Given the description of an element on the screen output the (x, y) to click on. 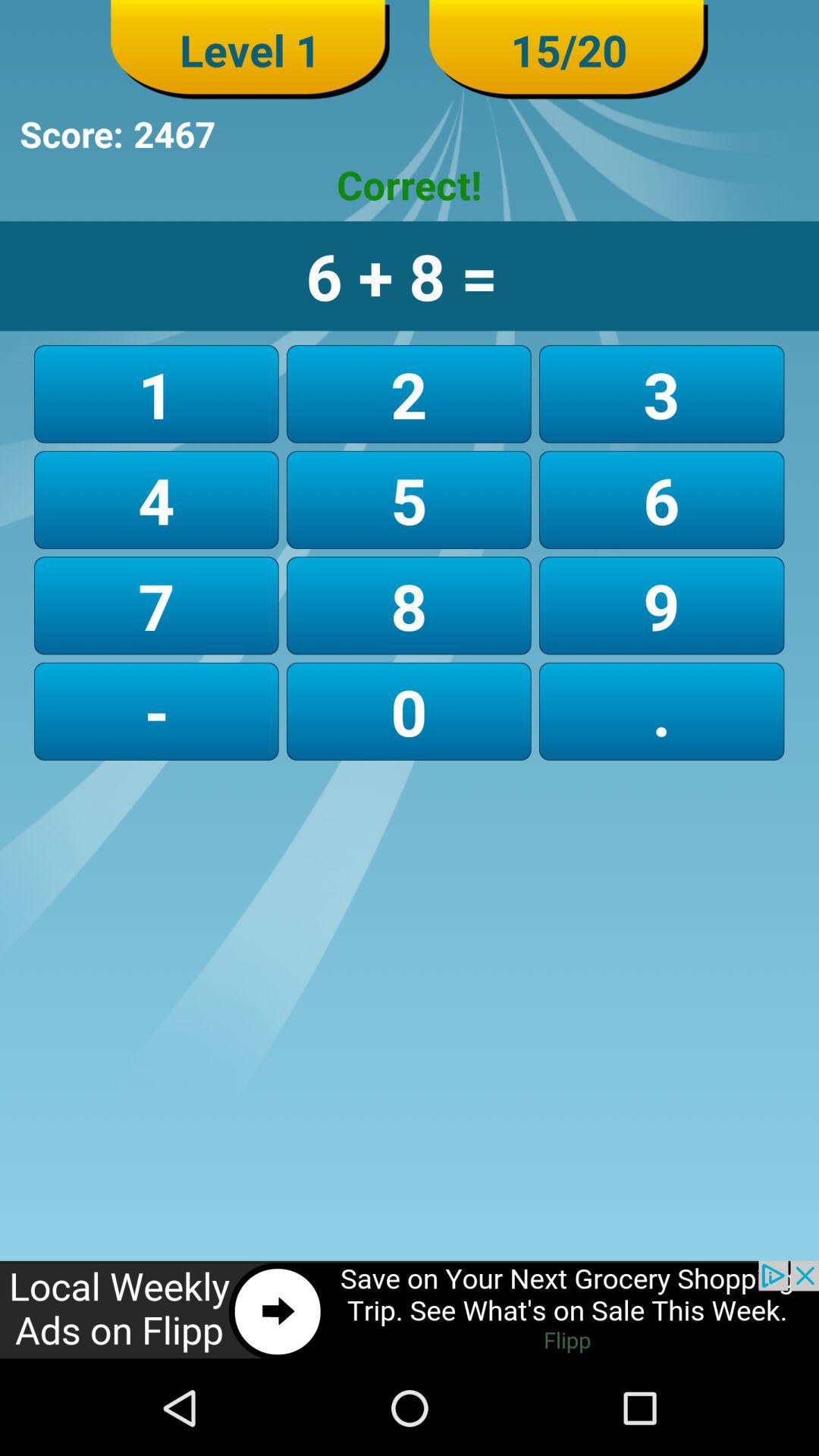
click the icon above 7 icon (408, 499)
